Given the description of an element on the screen output the (x, y) to click on. 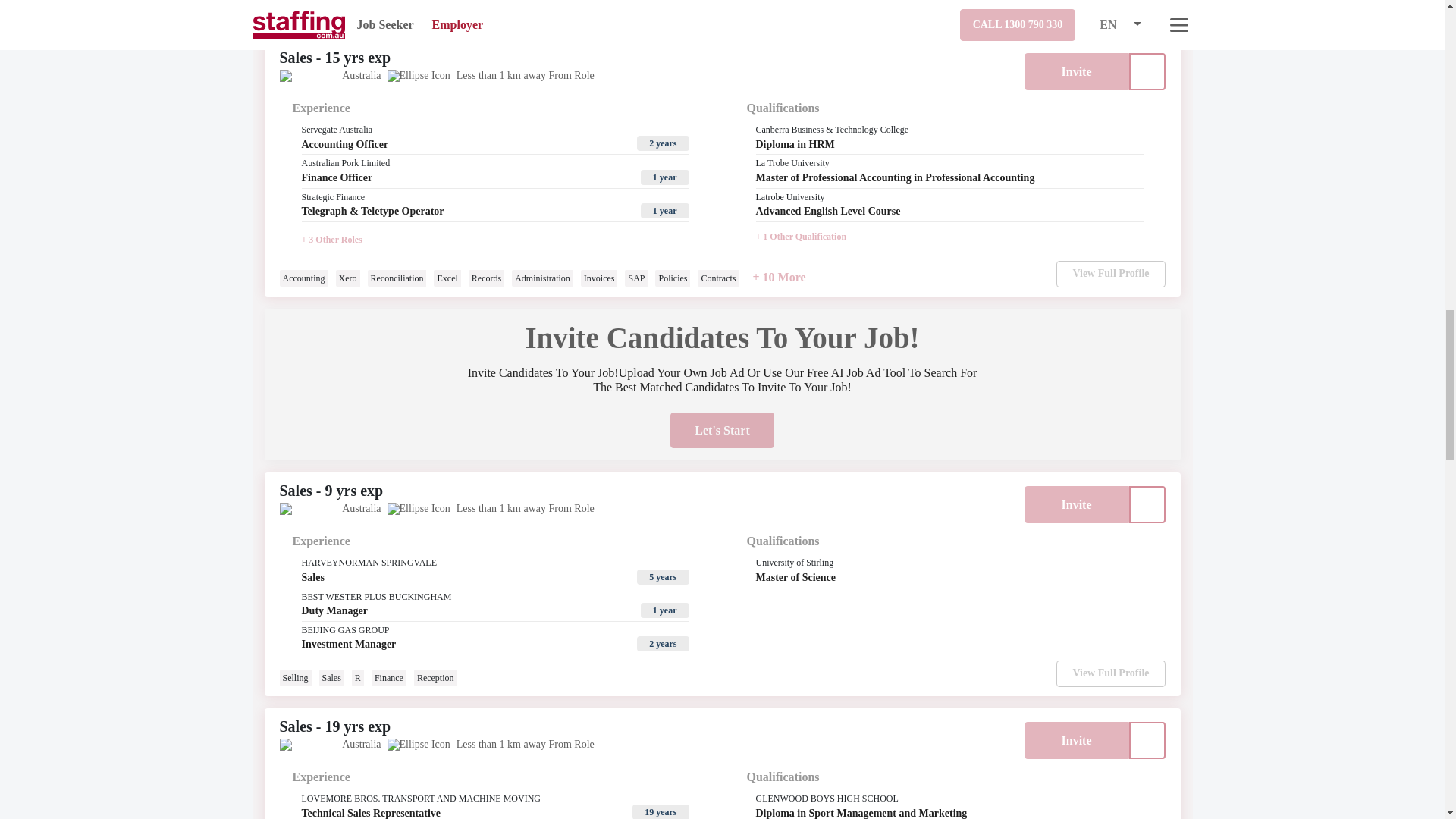
on (1146, 504)
Let's Start (721, 7)
Invite (1075, 71)
View Full Profile (1110, 274)
Invite (1075, 504)
on (1146, 740)
on (1146, 71)
Invite (1075, 740)
Let's Start (721, 429)
View Full Profile (1110, 673)
